Given the description of an element on the screen output the (x, y) to click on. 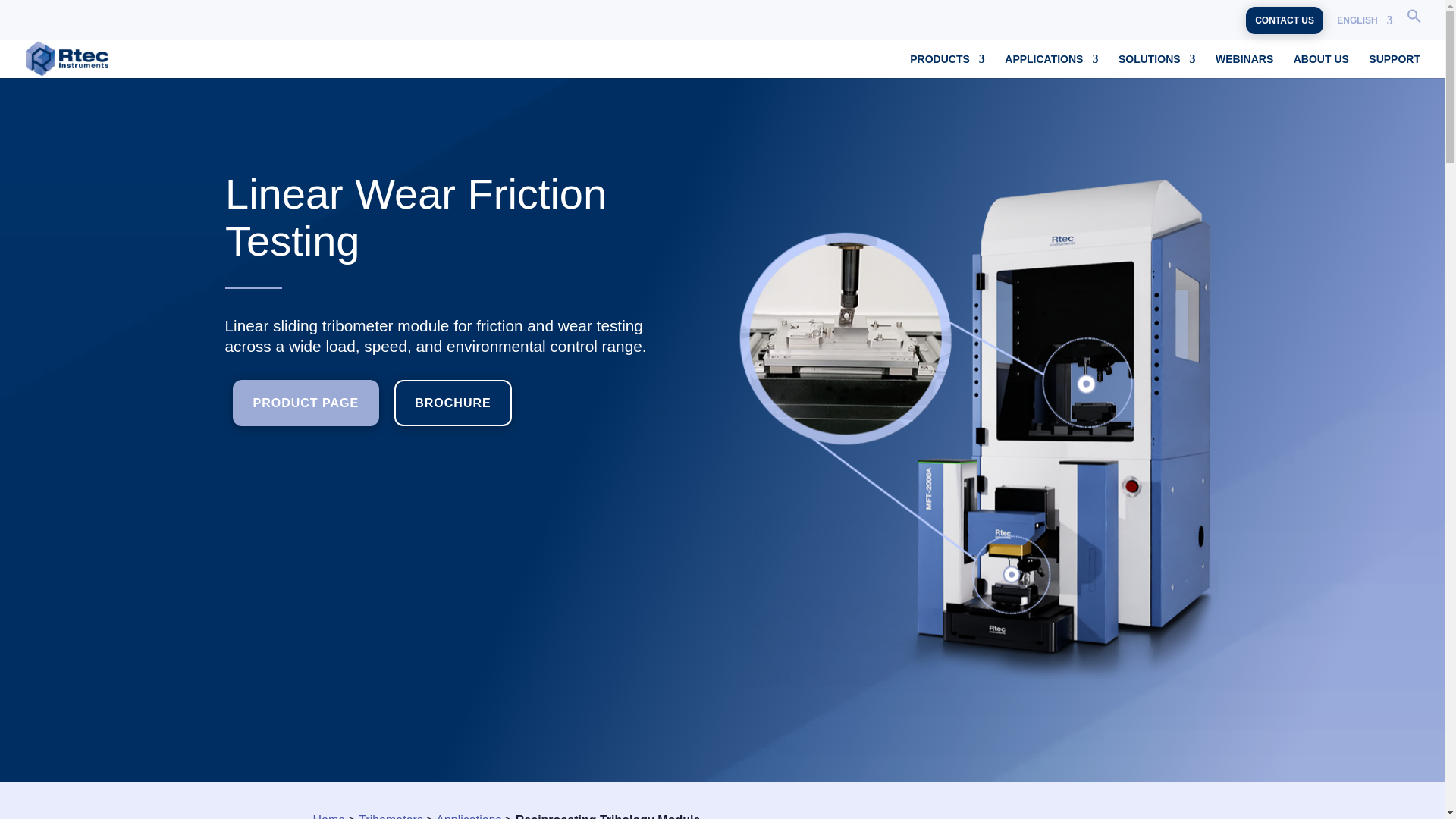
English (1363, 23)
ENGLISH (1363, 23)
CONTACT US (1284, 20)
ABOUT US (1321, 65)
SUPPORT (1394, 65)
PRODUCTS (947, 65)
SOLUTIONS (1156, 65)
APPLICATIONS (1050, 65)
WEBINARS (1243, 65)
